Given the description of an element on the screen output the (x, y) to click on. 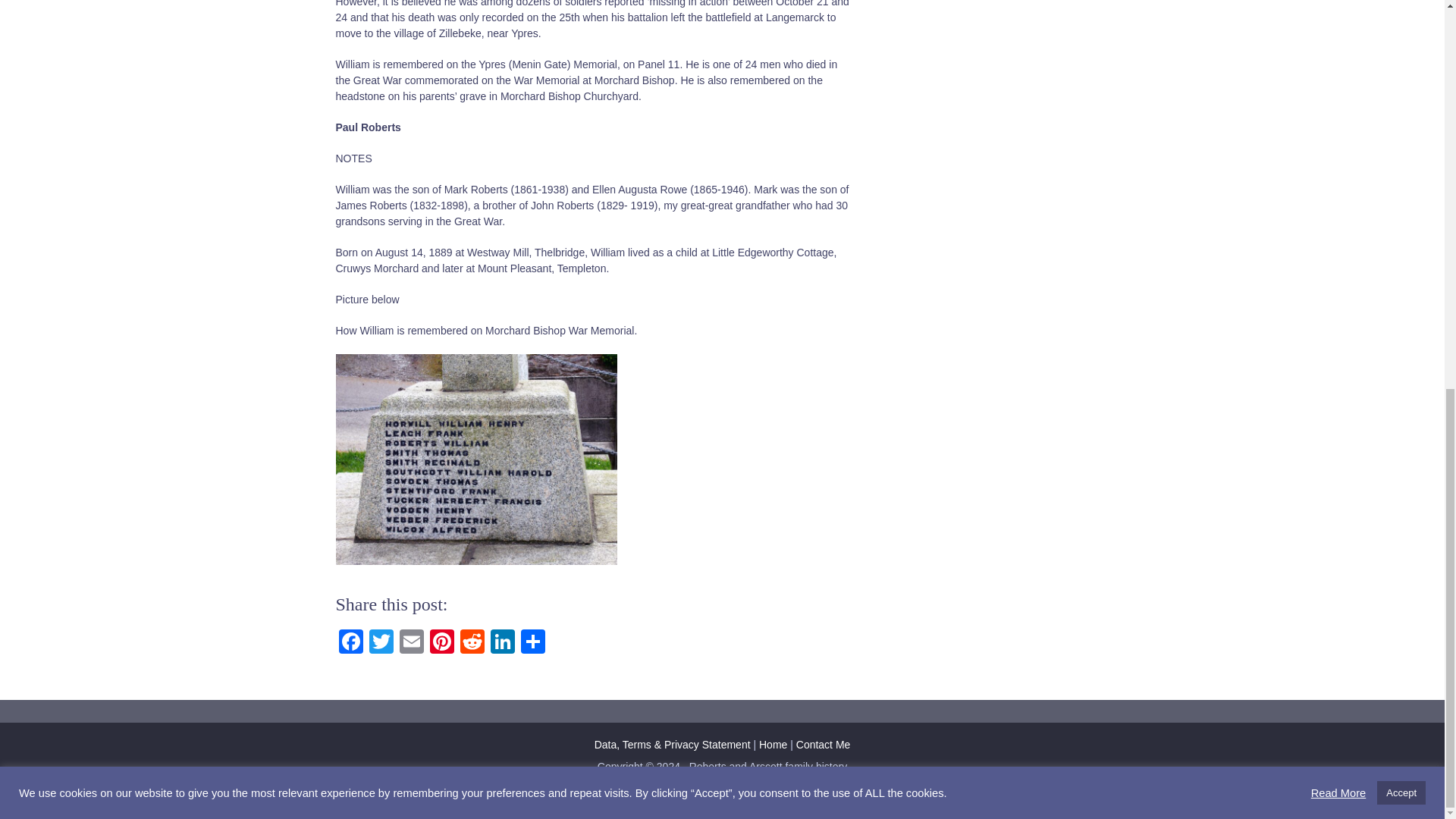
LinkedIn (501, 643)
Website designed and hosted by Mid Wales Design (722, 780)
Home (772, 744)
Pinterest (441, 643)
Facebook (349, 643)
Twitter (380, 643)
Reddit (471, 643)
Email (411, 643)
Contact Me (823, 744)
Read More (1339, 53)
Email (411, 643)
Reddit (471, 643)
Facebook (349, 643)
Accept (1401, 54)
Twitter (380, 643)
